Given the description of an element on the screen output the (x, y) to click on. 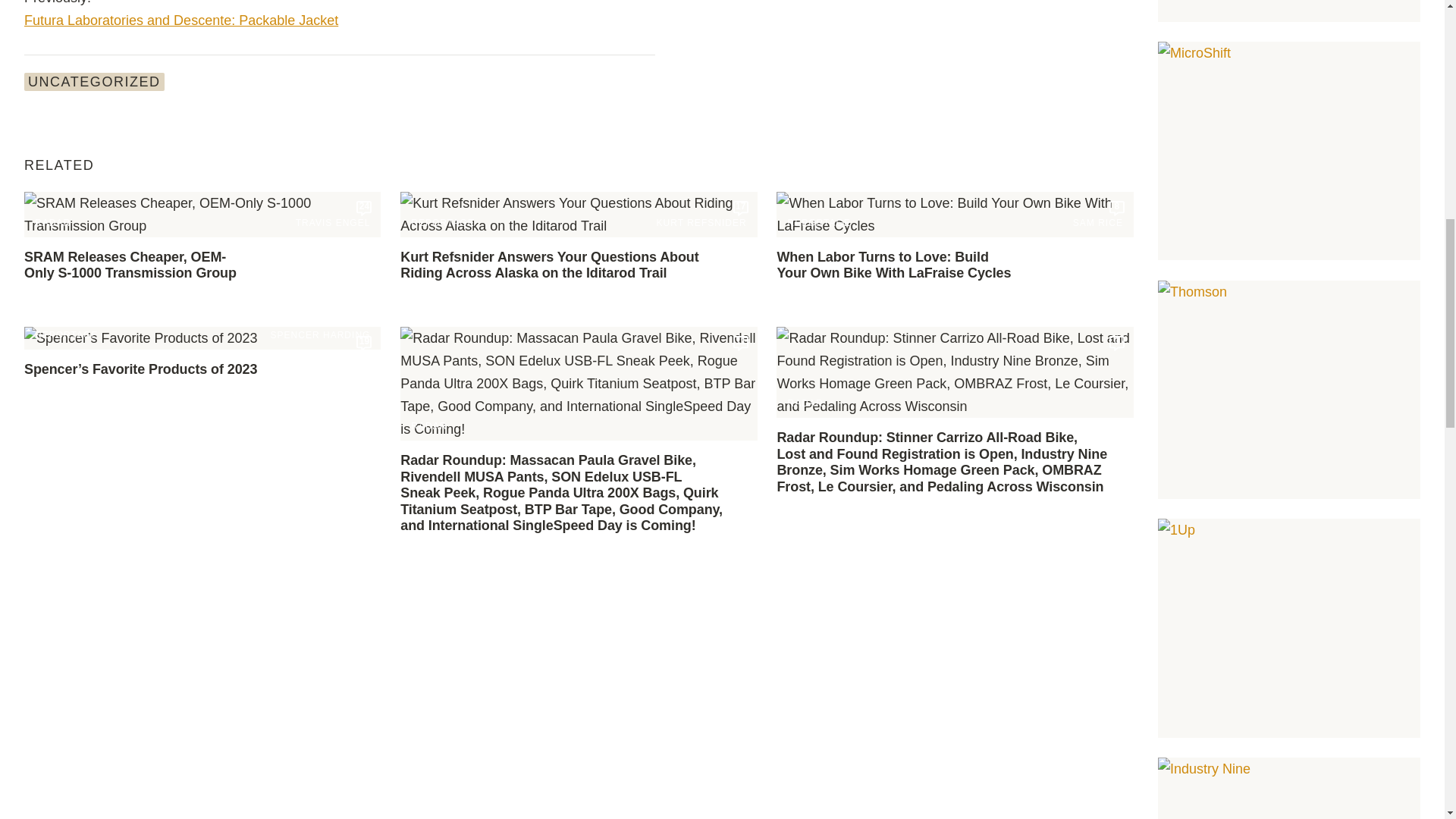
Industry Nine (1289, 788)
Janus Cycle Group (1289, 10)
1Up (1289, 627)
MicroShift (1289, 150)
Thomson (1289, 389)
